Given the description of an element on the screen output the (x, y) to click on. 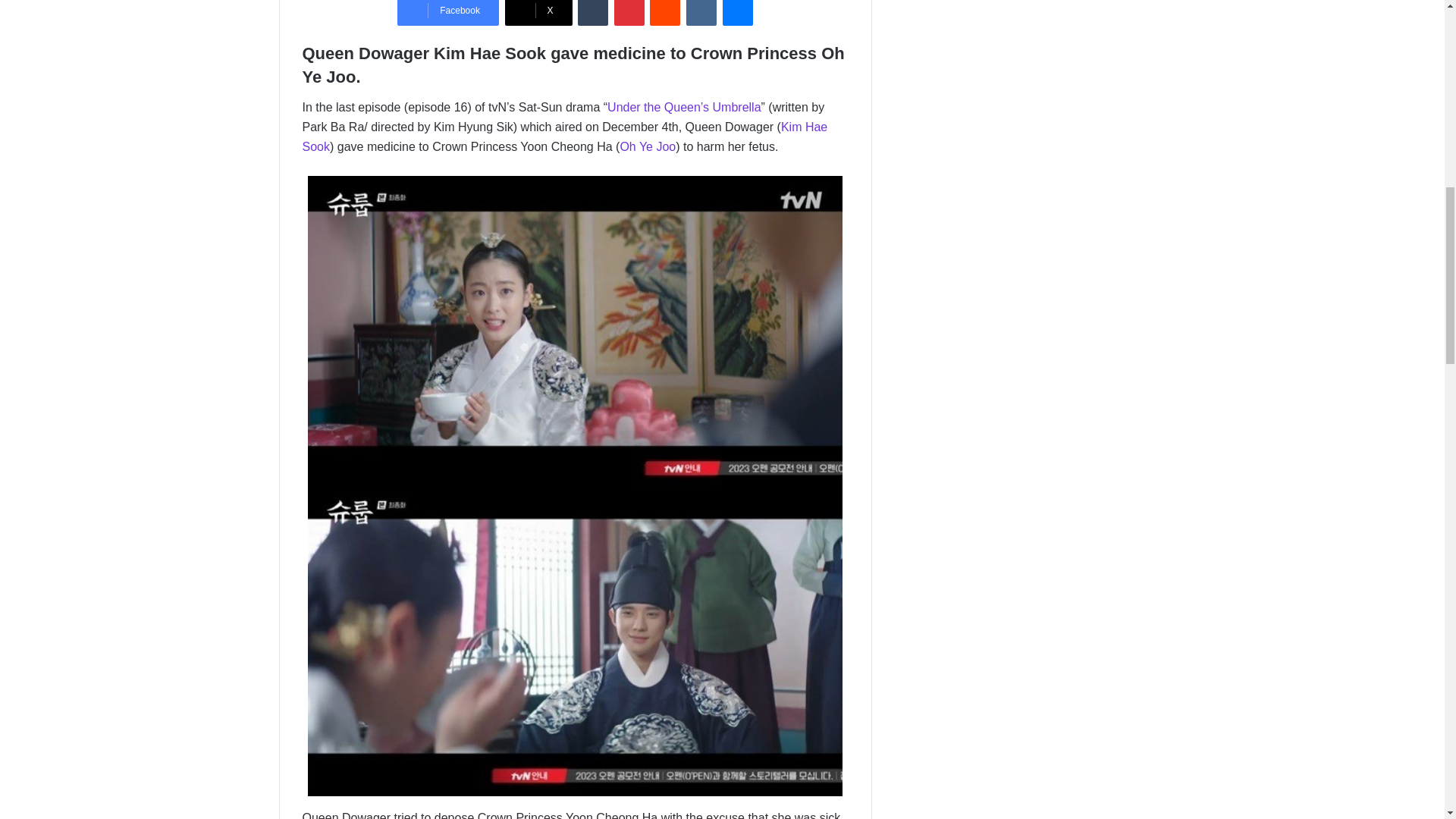
X (538, 12)
Facebook (448, 12)
Tumblr (593, 12)
VKontakte (700, 12)
Oh Ye Joo (647, 146)
Pinterest (629, 12)
X (538, 12)
Reddit (664, 12)
VKontakte (700, 12)
Messenger (737, 12)
Pinterest (629, 12)
Kim Hae Sook (564, 136)
Messenger (737, 12)
Facebook (448, 12)
Reddit (664, 12)
